Given the description of an element on the screen output the (x, y) to click on. 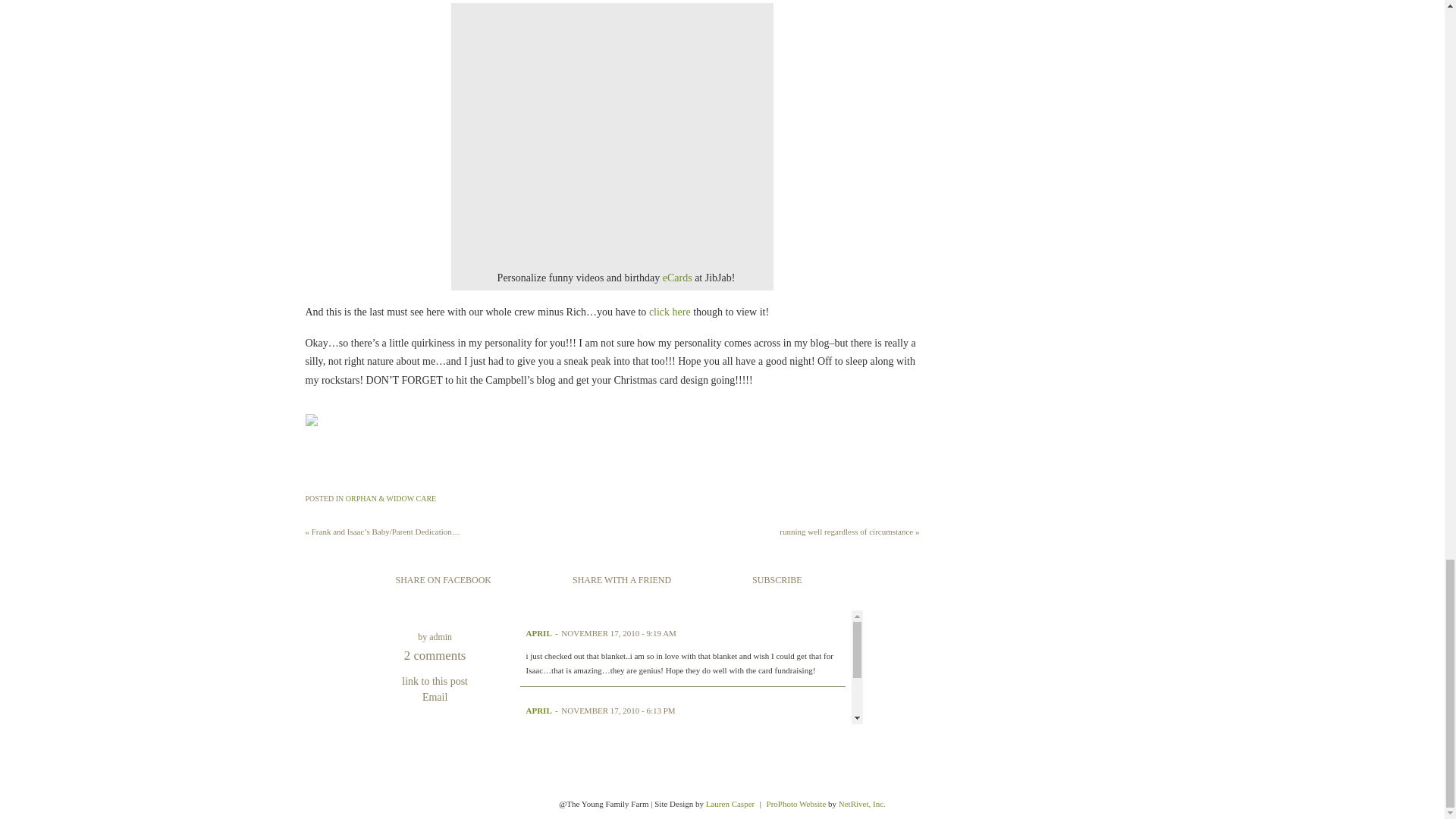
NetRivet, Inc. (861, 803)
Pin It on Pinterest (320, 463)
ProPhoto Photographer Template (797, 803)
View posts by admin (440, 636)
